Given the description of an element on the screen output the (x, y) to click on. 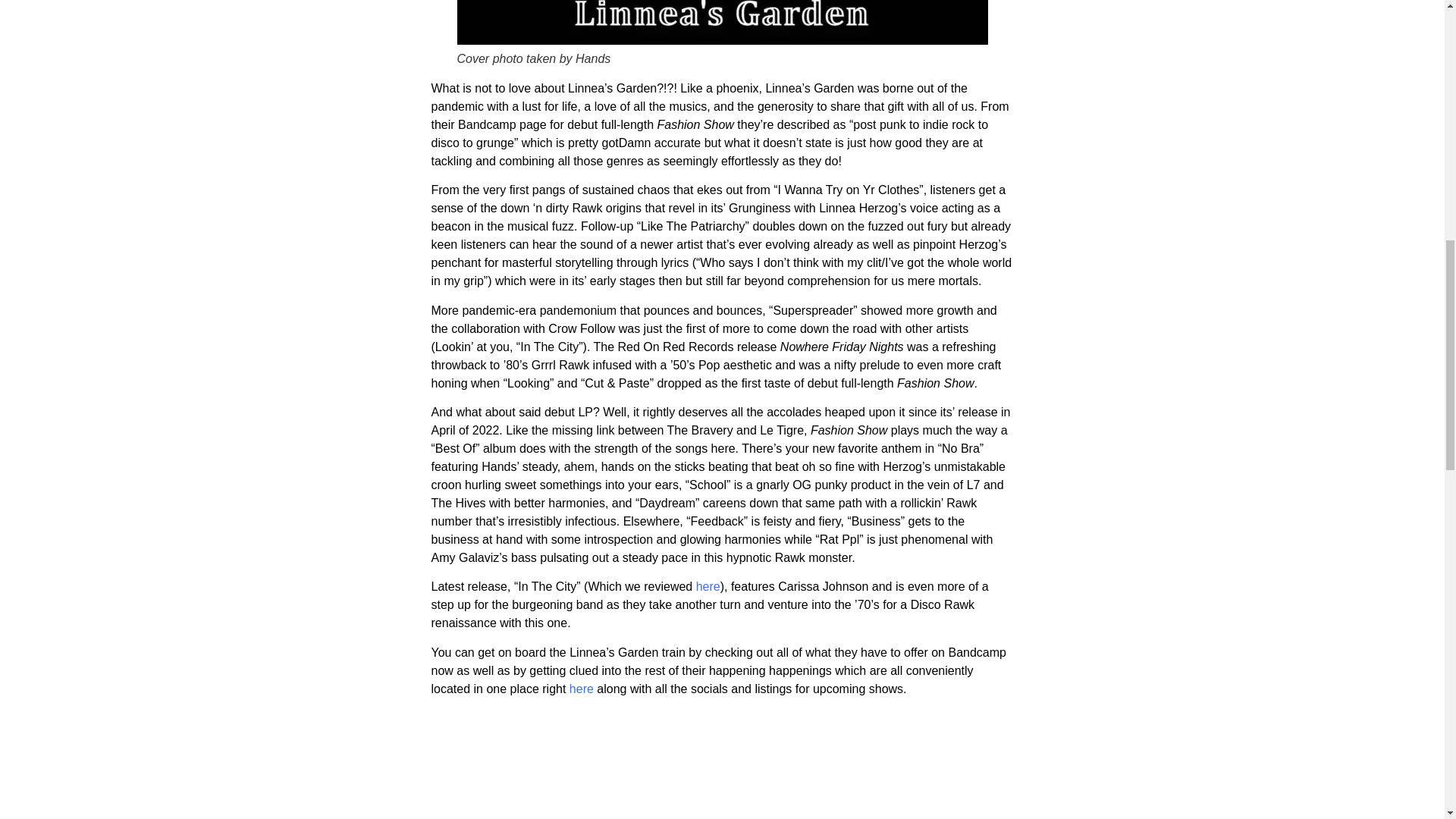
here (707, 585)
here (581, 688)
